Given the description of an element on the screen output the (x, y) to click on. 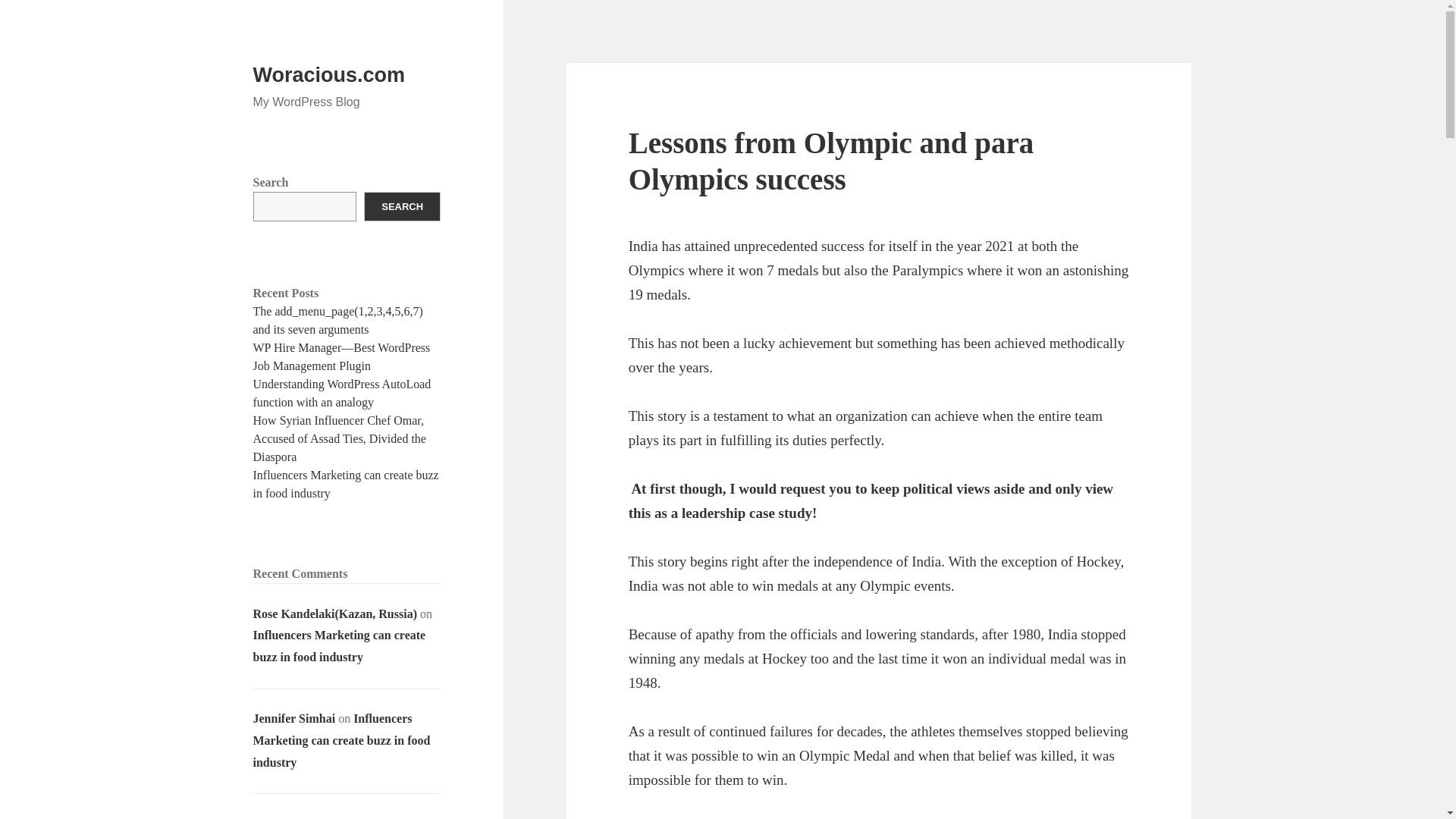
Jennifer Simhai (294, 717)
Woracious.com (329, 74)
Understanding WordPress AutoLoad function with an analogy (341, 392)
Influencers Marketing can create buzz in food industry (339, 645)
Influencers Marketing can create buzz in food industry (341, 740)
SEARCH (402, 206)
Influencers Marketing can create buzz in food industry (346, 483)
